Given the description of an element on the screen output the (x, y) to click on. 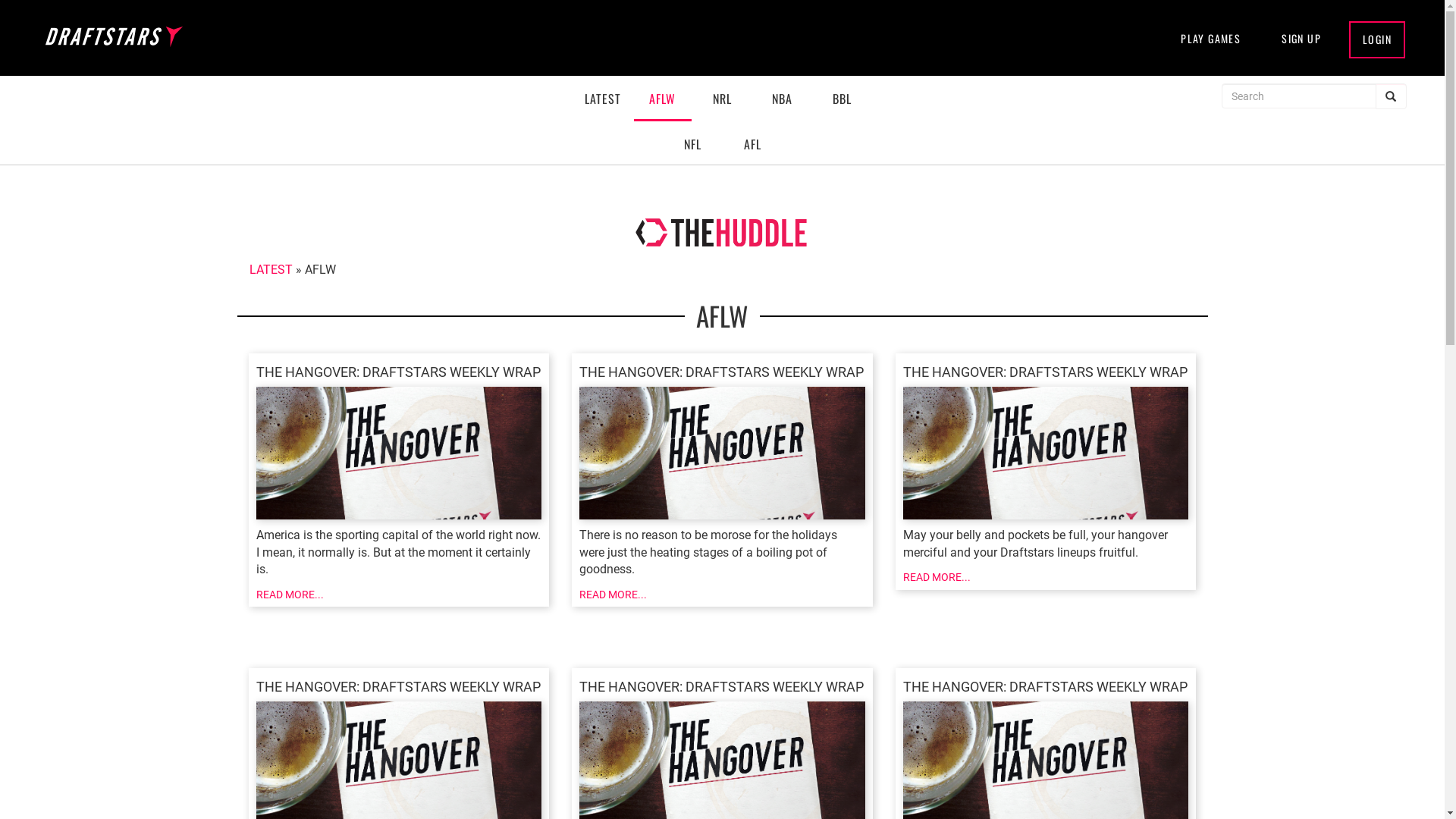
LATEST Element type: text (269, 269)
THE HANGOVER: DRAFTSTARS WEEKLY WRAP Element type: text (399, 442)
LOGIN Element type: text (1377, 39)
READ MORE... Element type: text (612, 594)
BBL Element type: text (841, 98)
THE HANGOVER: DRAFTSTARS WEEKLY WRAP Element type: text (1046, 442)
AFLW Element type: text (662, 98)
READ MORE... Element type: text (936, 577)
SIGN UP Element type: text (1300, 38)
NRL Element type: text (721, 98)
NBA Element type: text (782, 98)
PLAY GAMES Element type: text (1210, 38)
THE HANGOVER: DRAFTSTARS WEEKLY WRAP Element type: text (722, 442)
LATEST Element type: text (601, 98)
AFL Element type: text (752, 144)
READ MORE... Element type: text (289, 594)
NFL Element type: text (692, 144)
